Given the description of an element on the screen output the (x, y) to click on. 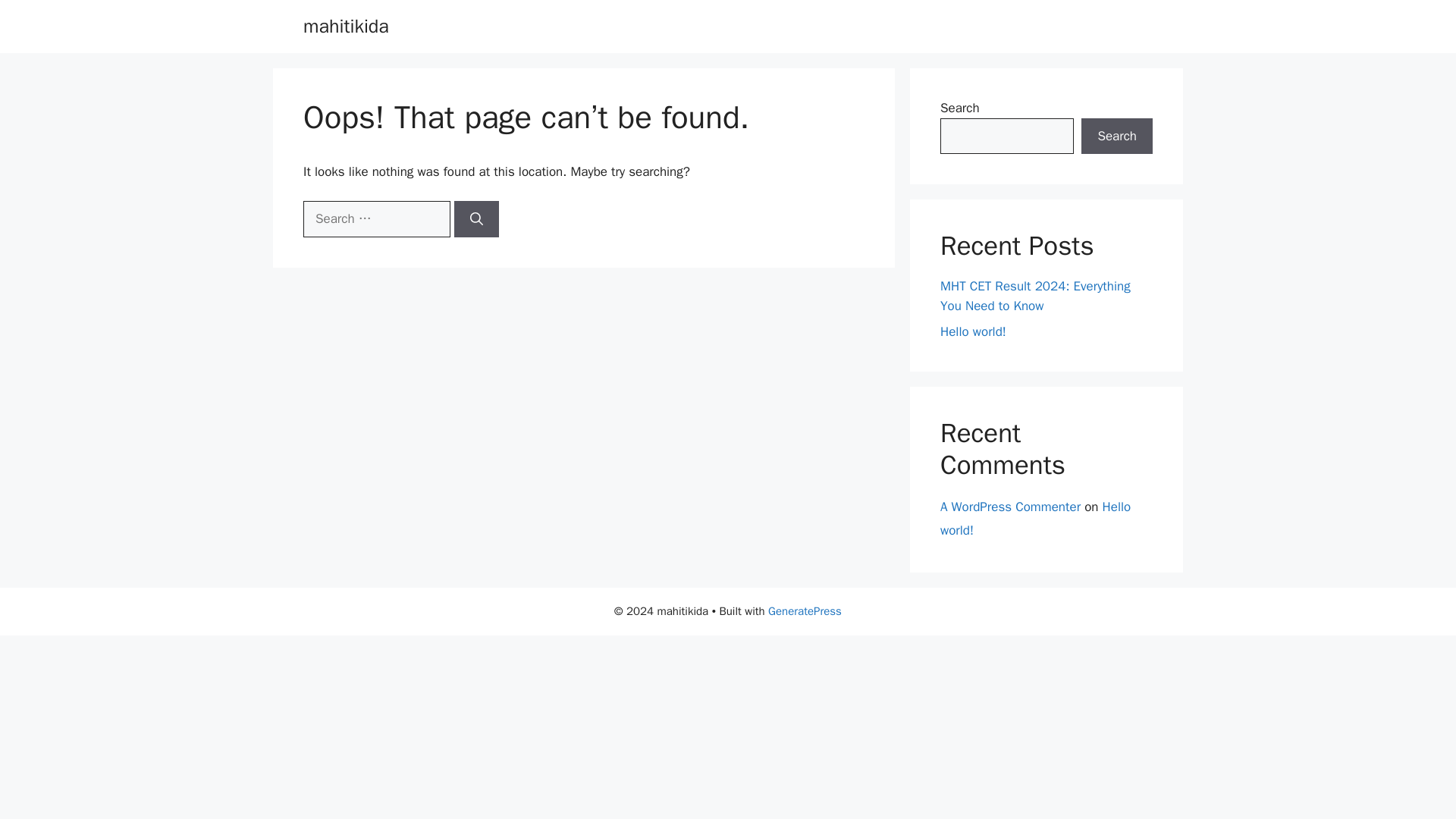
A WordPress Commenter (1010, 506)
Search (1117, 135)
Hello world! (1035, 518)
Hello world! (973, 330)
MHT CET Result 2024: Everything You Need to Know (1035, 295)
GeneratePress (804, 611)
mahitikida (345, 25)
Search for: (375, 218)
